Given the description of an element on the screen output the (x, y) to click on. 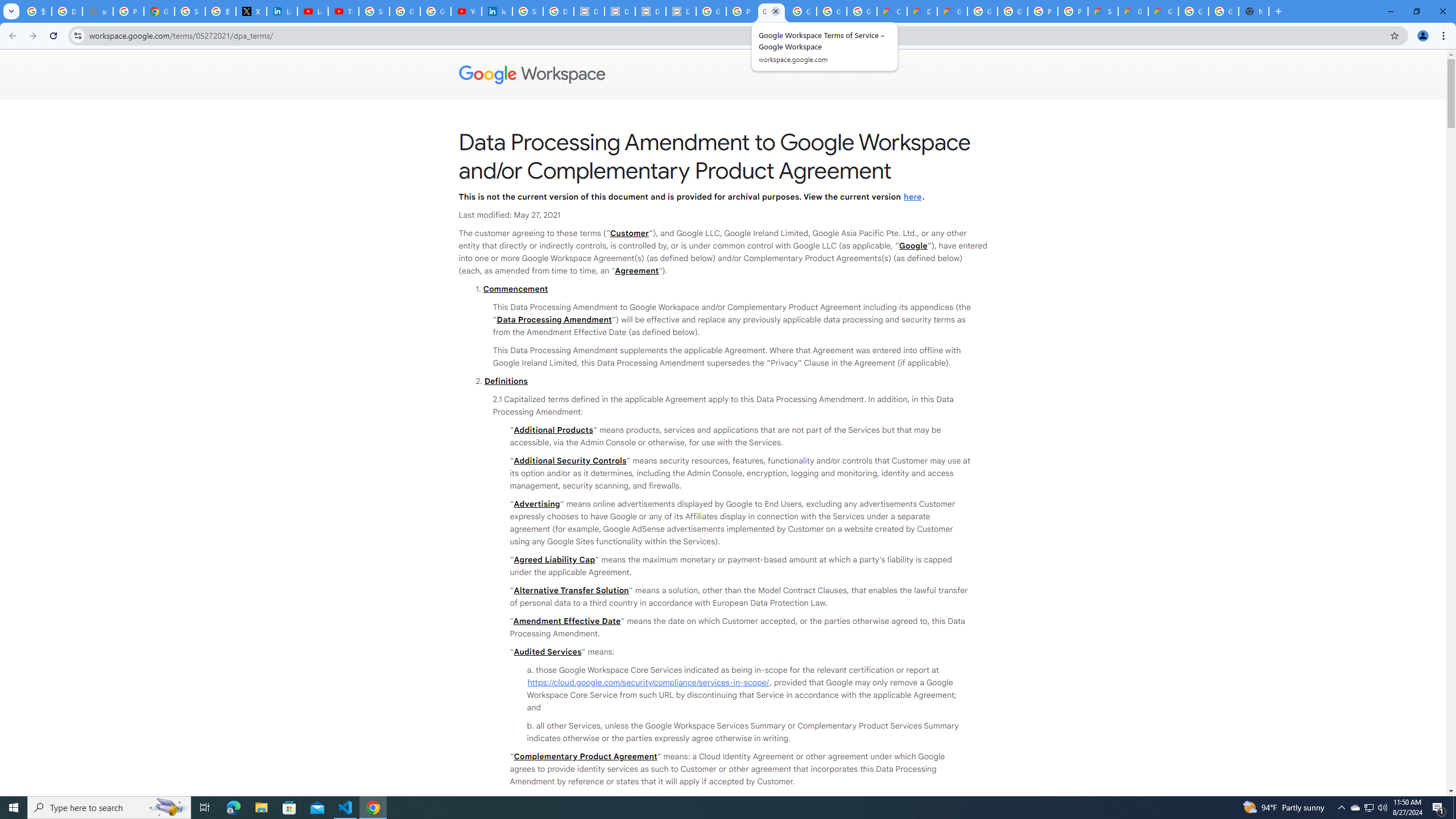
Data Privacy Framework (681, 11)
Google Workspace - Specific Terms (830, 11)
support.google.com - Network error (97, 11)
Google Cloud Platform (1223, 11)
Customer Care | Google Cloud (892, 11)
Privacy Help Center - Policies Help (127, 11)
New Tab (1253, 11)
Google Cloud Platform (1012, 11)
Gemini for Business and Developers | Google Cloud (951, 11)
